Given the description of an element on the screen output the (x, y) to click on. 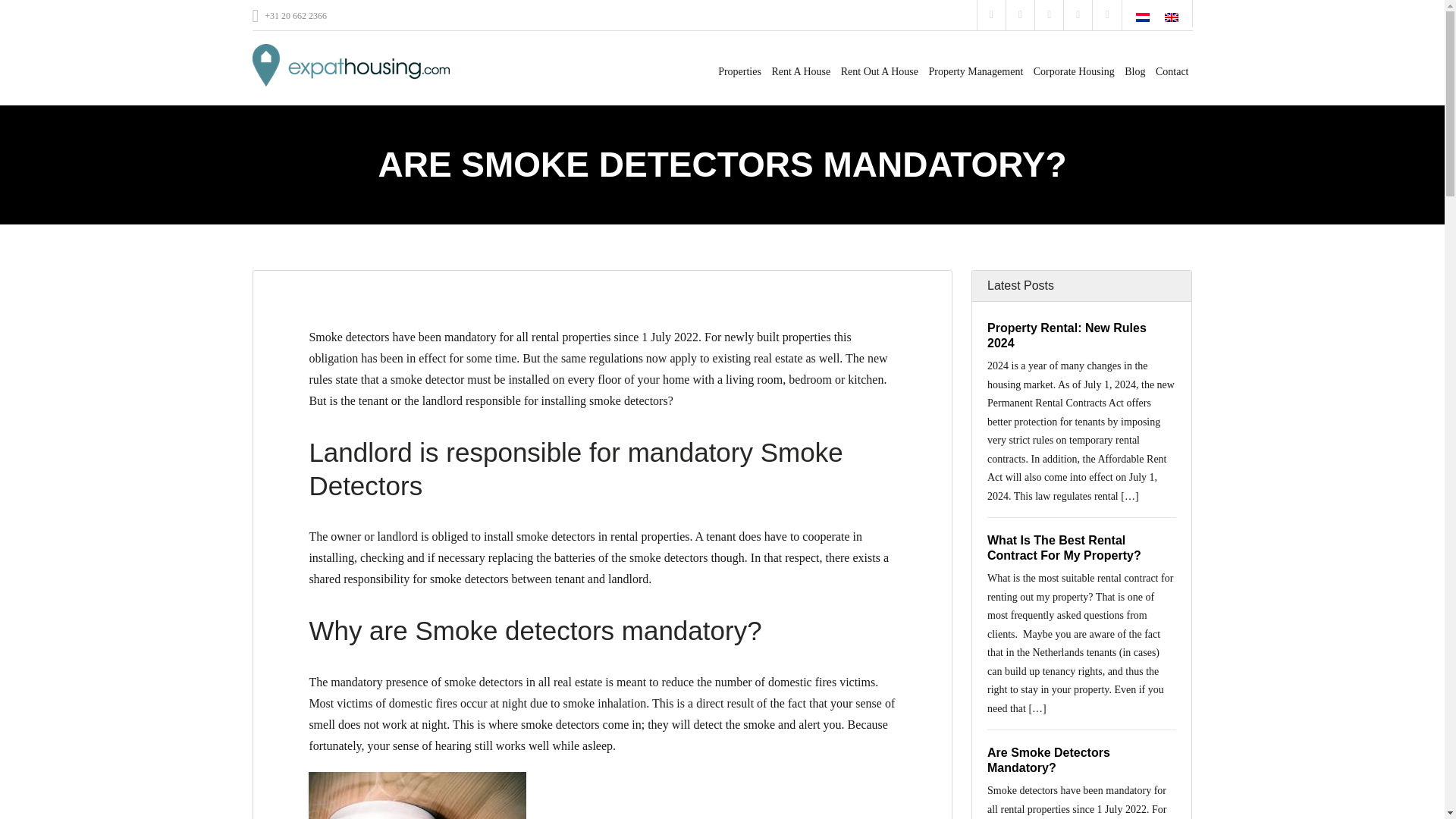
Corporate Housing (1073, 60)
Rent A House (800, 60)
What Is The Best Rental Contract For My Property? (1064, 547)
Rent Out A House (879, 60)
Property Management (975, 60)
Are Smoke Detectors Mandatory? (1048, 759)
Property Rental: New Rules 2024 (1067, 335)
